Given the description of an element on the screen output the (x, y) to click on. 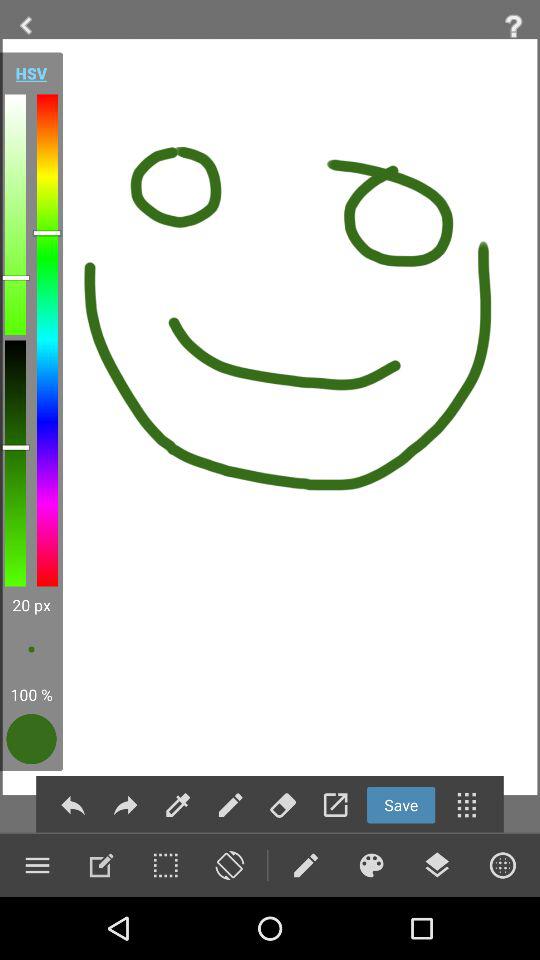
go to menu (37, 865)
